Given the description of an element on the screen output the (x, y) to click on. 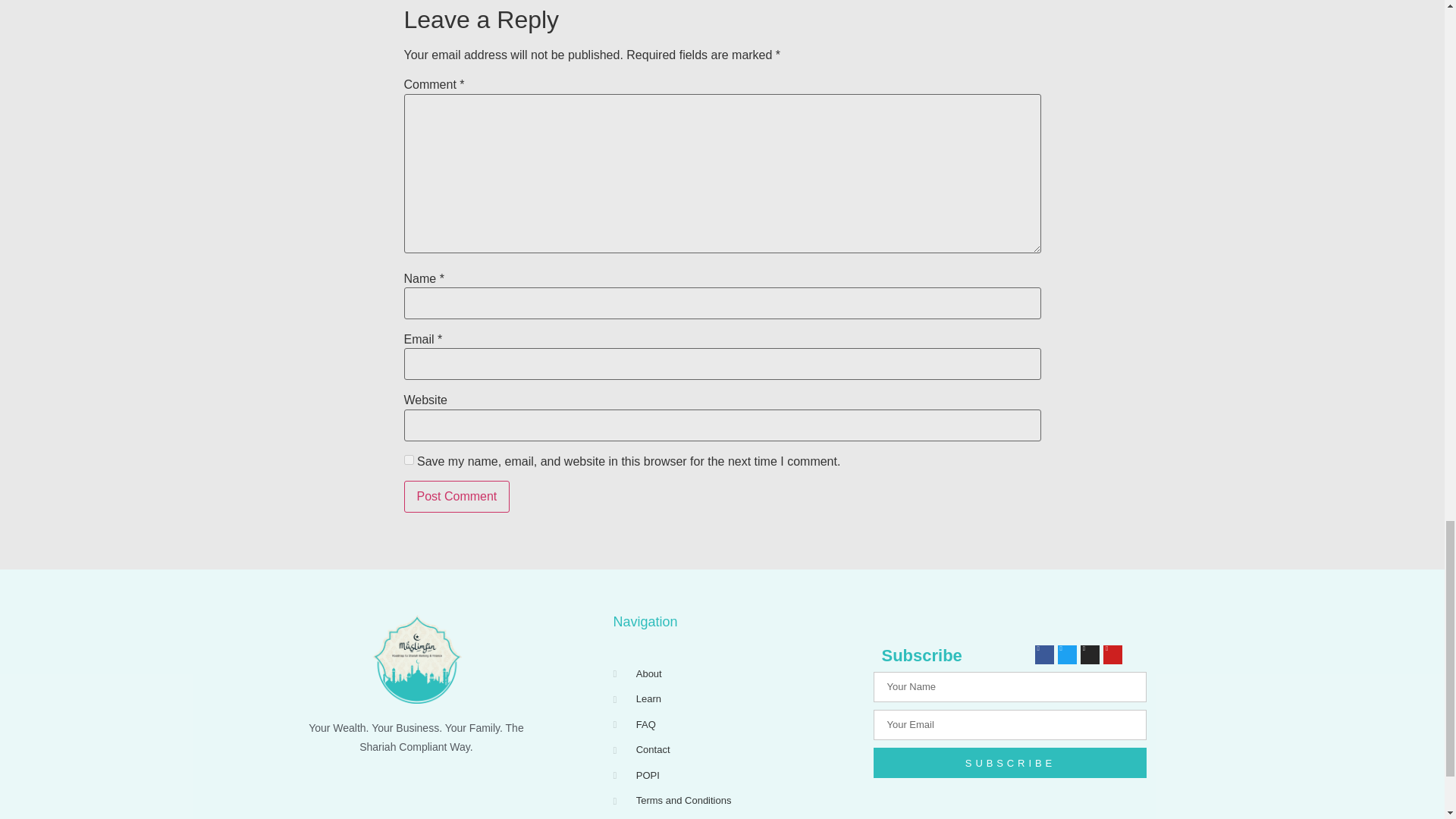
Learn (735, 698)
Terms and Conditions (735, 800)
Post Comment (456, 496)
FAQ (735, 724)
Contact (735, 749)
yes (408, 460)
About (735, 673)
POPI (735, 775)
Post Comment (456, 496)
